Given the description of an element on the screen output the (x, y) to click on. 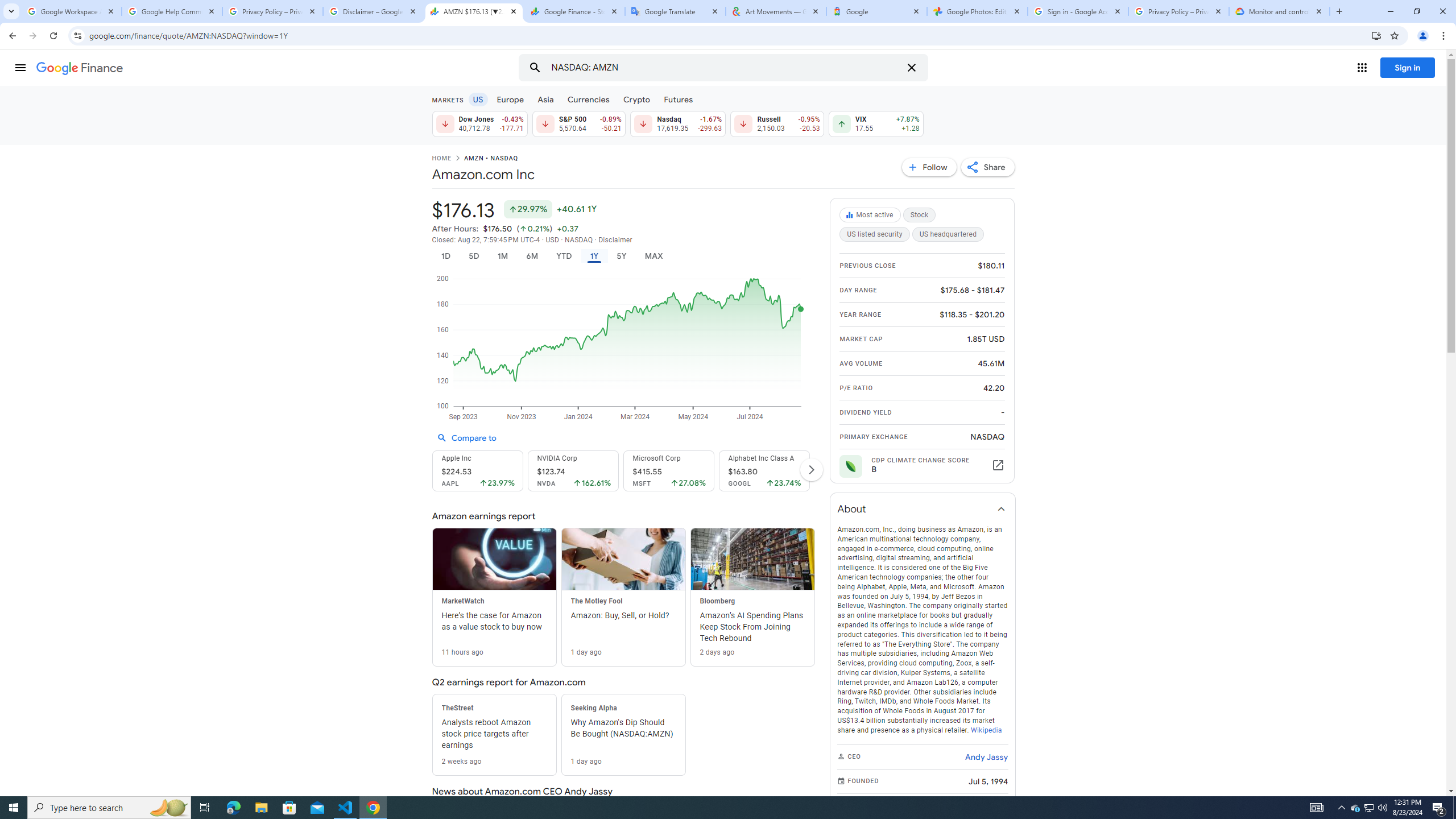
Search for stocks, ETFs & more (724, 67)
Andy Jassy (986, 756)
YTD (563, 255)
Dow Jones 40,712.78 Down by 0.43% -177.71 (478, 123)
5Y (621, 255)
Google Workspace Admin Community (71, 11)
Clear search (911, 67)
1Y (594, 255)
Wikipedia (985, 729)
